Given the description of an element on the screen output the (x, y) to click on. 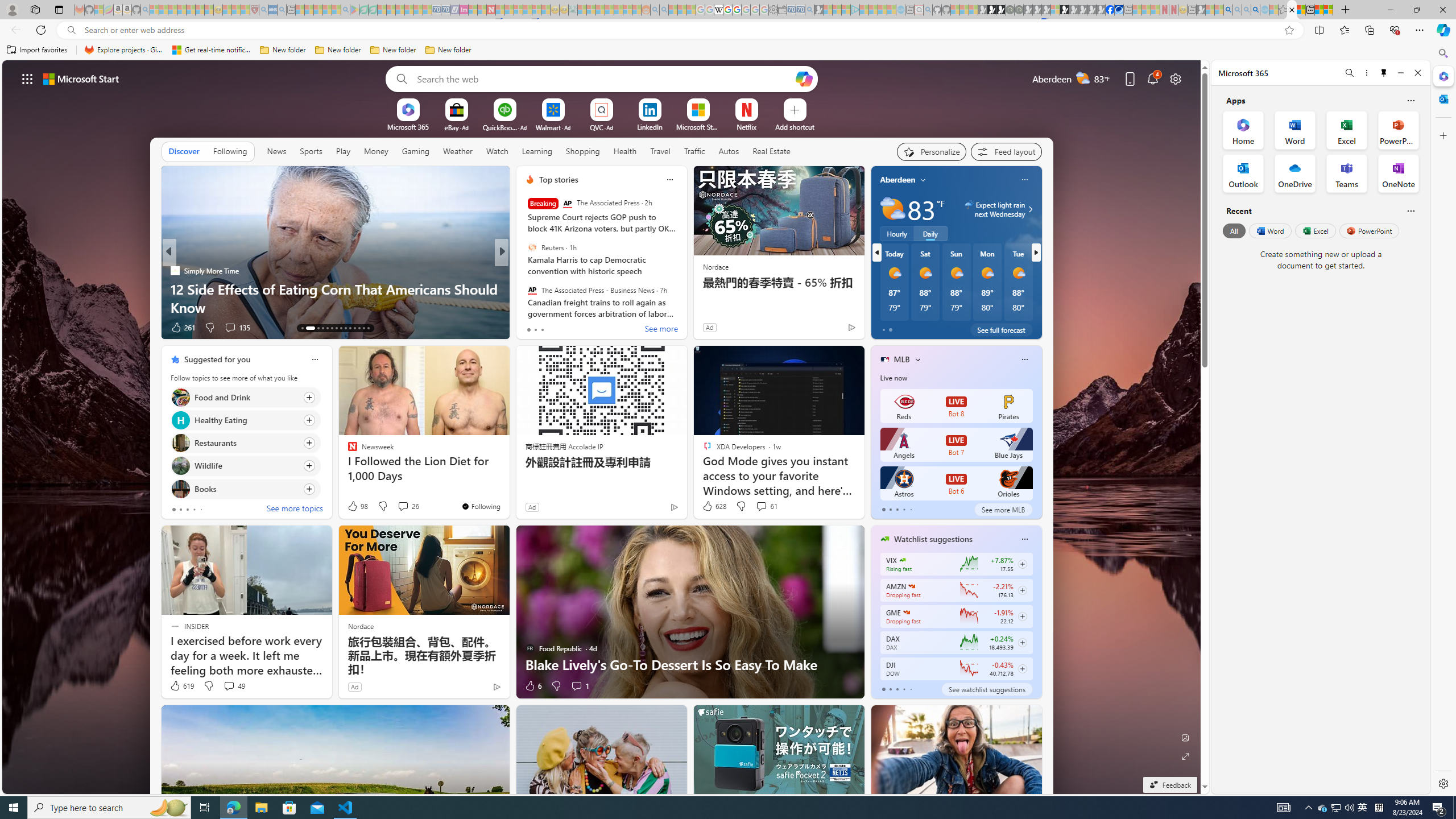
Gaming (415, 151)
Unpin side pane (1383, 72)
Microsoft account | Privacy - Sleeping (846, 9)
Shopping (583, 151)
AutomationID: tab-18 (331, 328)
PowerPoint (1369, 230)
You're following Newsweek (480, 505)
Bing Real Estate - Home sales and rental listings - Sleeping (809, 9)
